Given the description of an element on the screen output the (x, y) to click on. 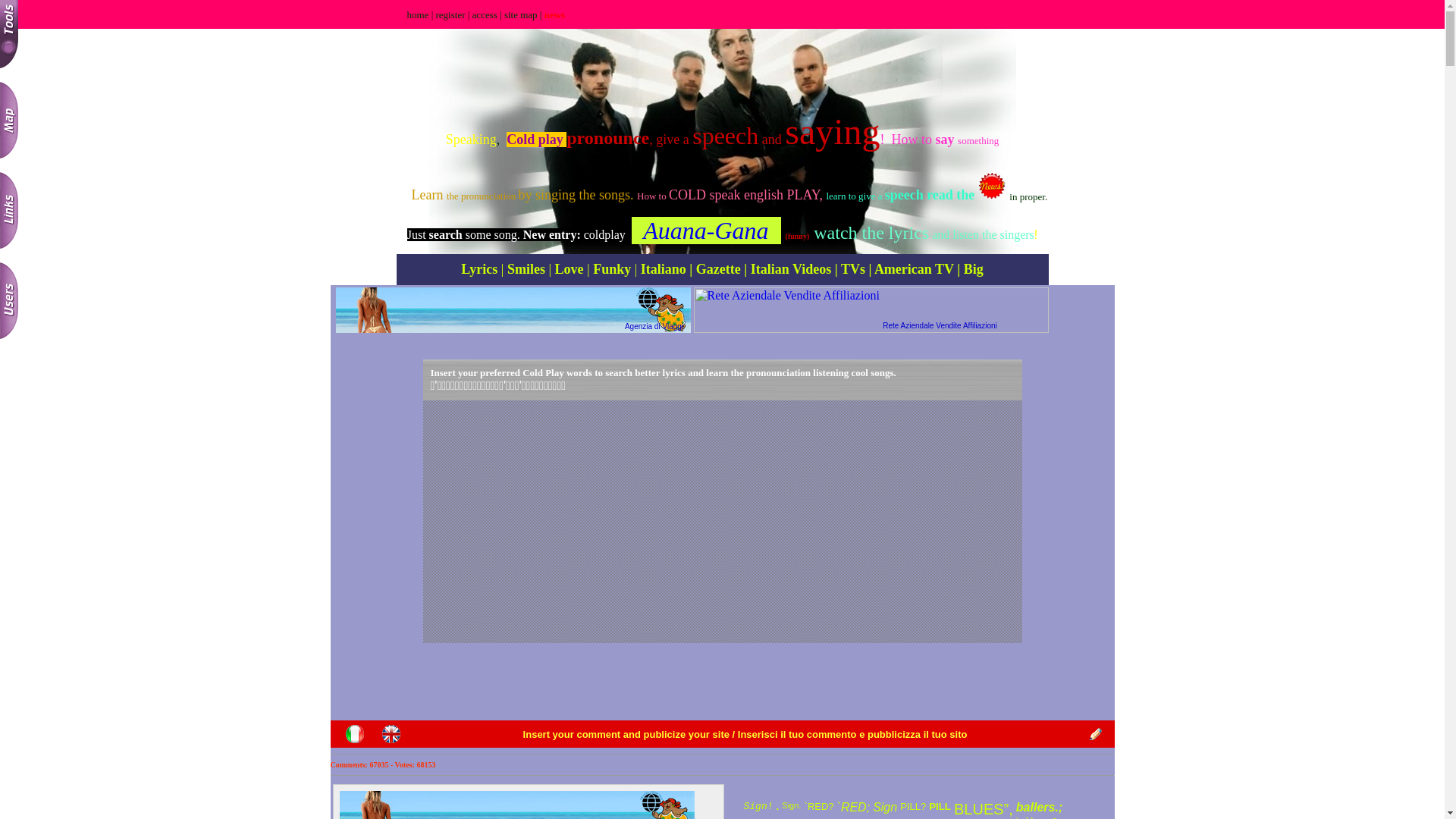
Rete Aziendale Vendite Affiliazioni Element type: text (939, 325)
Auana-Gana Element type: text (705, 232)
Agenzia di Viaggi
Rete Aziendale Vendite Affiliazioni Element type: text (722, 322)
site map Element type: text (519, 14)
`RED? Element type: text (819, 806)
access Element type: text (484, 14)
news Element type: text (552, 14)
Big Element type: text (973, 268)
home Element type: text (417, 14)
Agenzia di Viaggio a Napoli Element type: hover (512, 309)
Funky Element type: text (611, 268)
Love Element type: text (569, 268)
Lyrics Element type: text (481, 268)
ballers.; Element type: text (1039, 806)
TVs Element type: text (852, 268)
Smiles Element type: text (526, 268)
Italian Videos Element type: text (788, 268)
Sign! Element type: text (757, 804)
Agenzia di Viaggi Element type: text (653, 326)
Comments: 67035 - Votes: 68153 Element type: text (383, 764)
Advertisement Element type: hover (721, 681)
Sign Element type: text (884, 806)
register Element type: text (449, 14)
PILL? Element type: text (912, 806)
Sign. Element type: text (790, 803)
`RED; Element type: text (853, 806)
PILL Element type: text (939, 805)
. Element type: text (777, 805)
Rete Aziendale Vendite Affiliazioni Element type: hover (870, 309)
| Element type: text (958, 268)
Italiano | Element type: text (666, 268)
American TV Element type: text (913, 268)
Gazette Element type: text (716, 268)
